Given the description of an element on the screen output the (x, y) to click on. 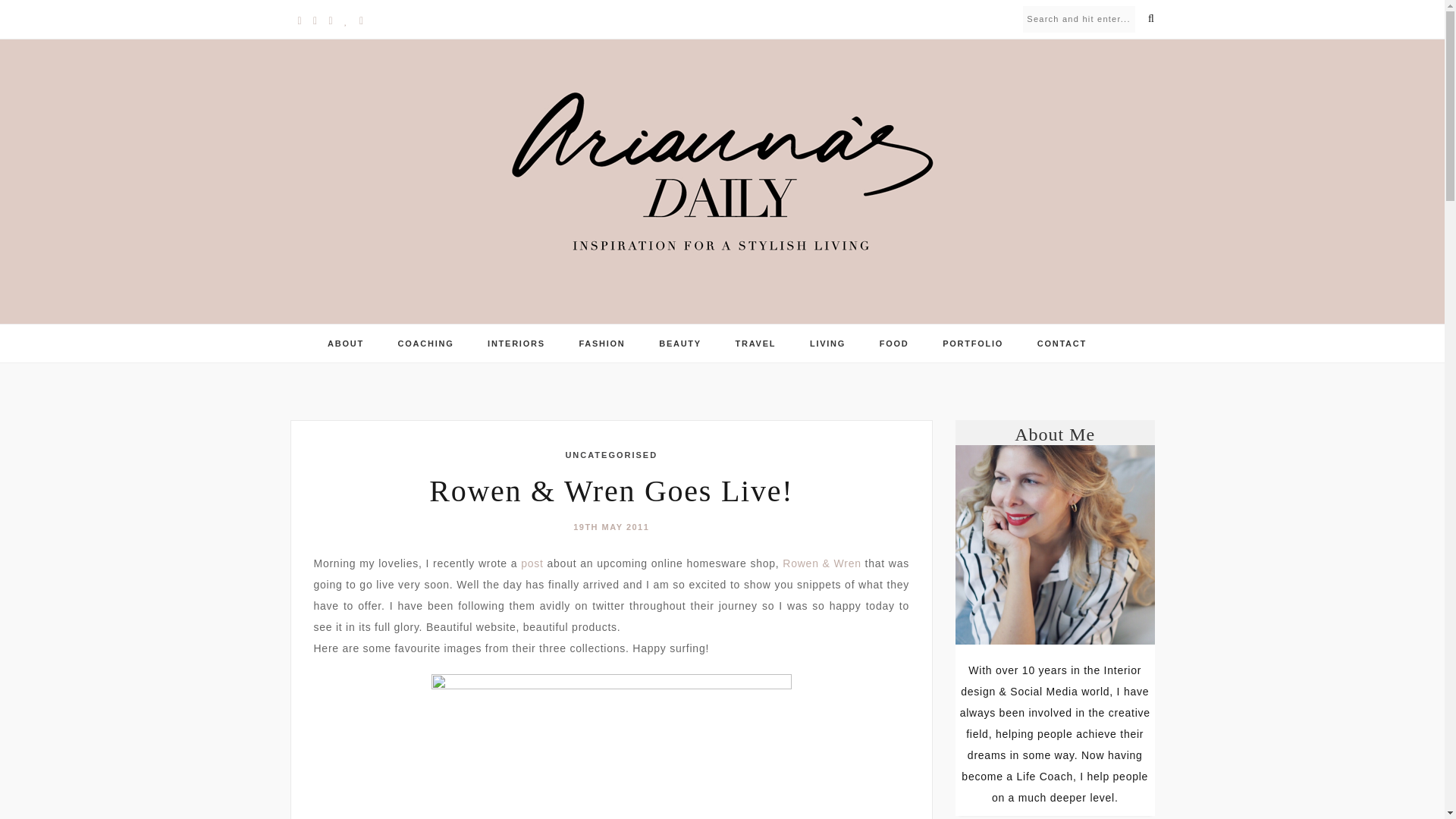
PORTFOLIO (972, 343)
UNCATEGORISED (611, 454)
BEAUTY (680, 343)
LIVING (827, 343)
COACHING (425, 343)
Beauty (680, 343)
ABOUT (345, 343)
CONTACT (1061, 343)
Interiors (515, 343)
post (532, 563)
